Given the description of an element on the screen output the (x, y) to click on. 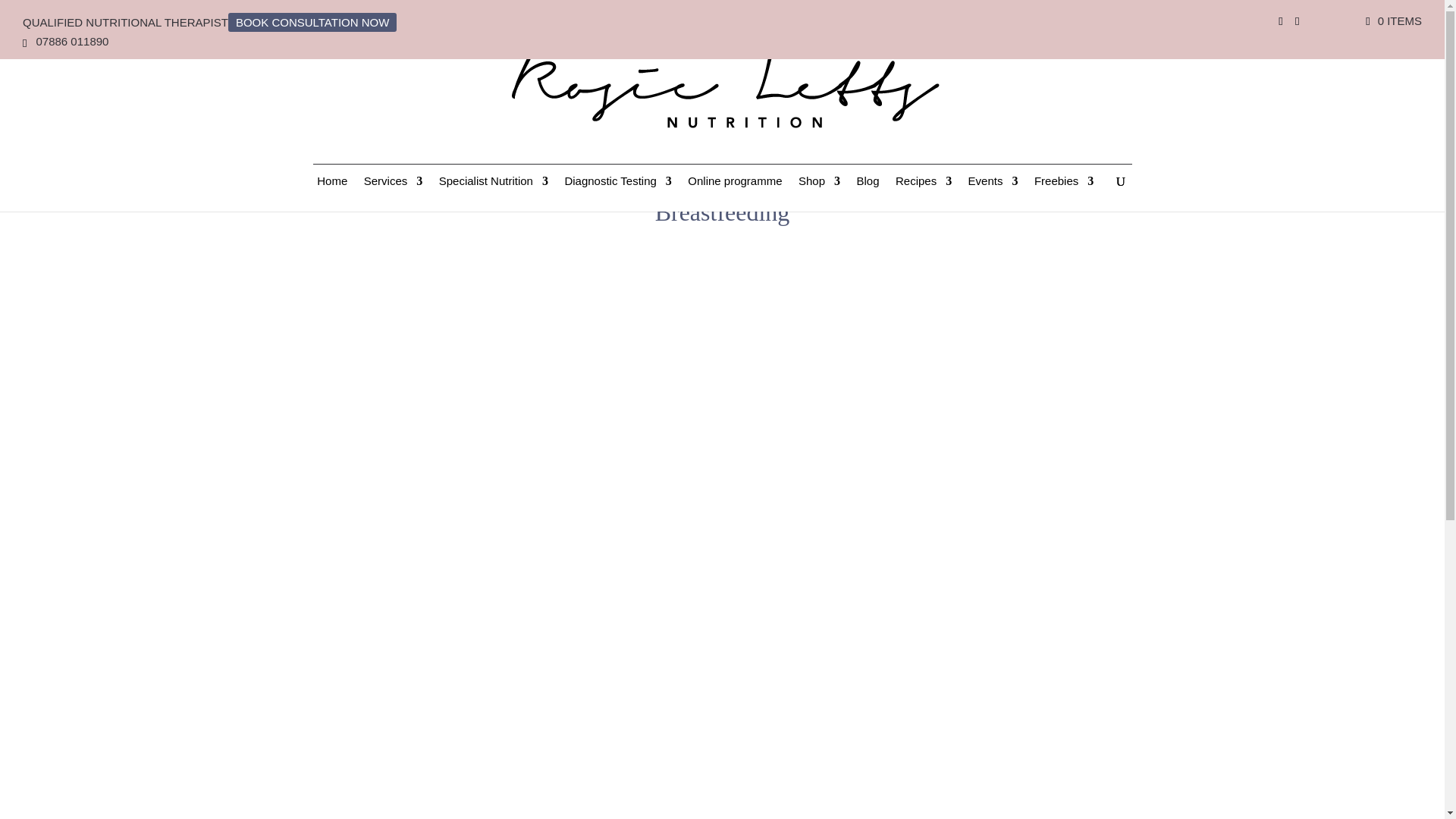
BOOK CONSULTATION NOW (312, 21)
Specialist Nutrition (493, 193)
Shop (818, 193)
Diagnostic Testing (617, 193)
07886 011890 (71, 40)
0 ITEMS (1392, 19)
Services (393, 193)
Online programme (734, 193)
